Given the description of an element on the screen output the (x, y) to click on. 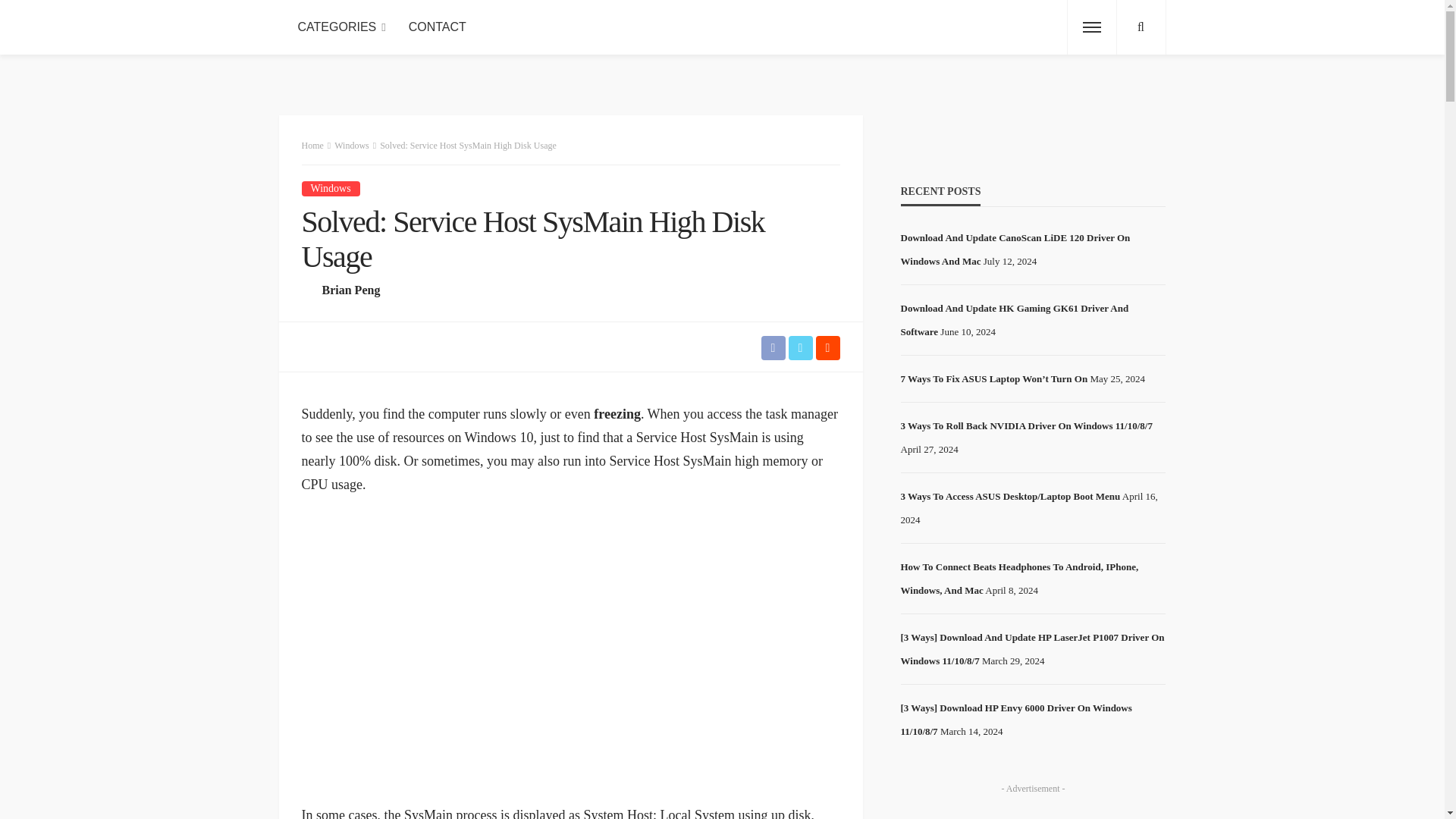
Home (312, 145)
Windows (351, 145)
CATEGORIES (341, 27)
Brian Peng (350, 290)
CONTACT (437, 27)
Windows (330, 188)
Windows (330, 188)
